Given the description of an element on the screen output the (x, y) to click on. 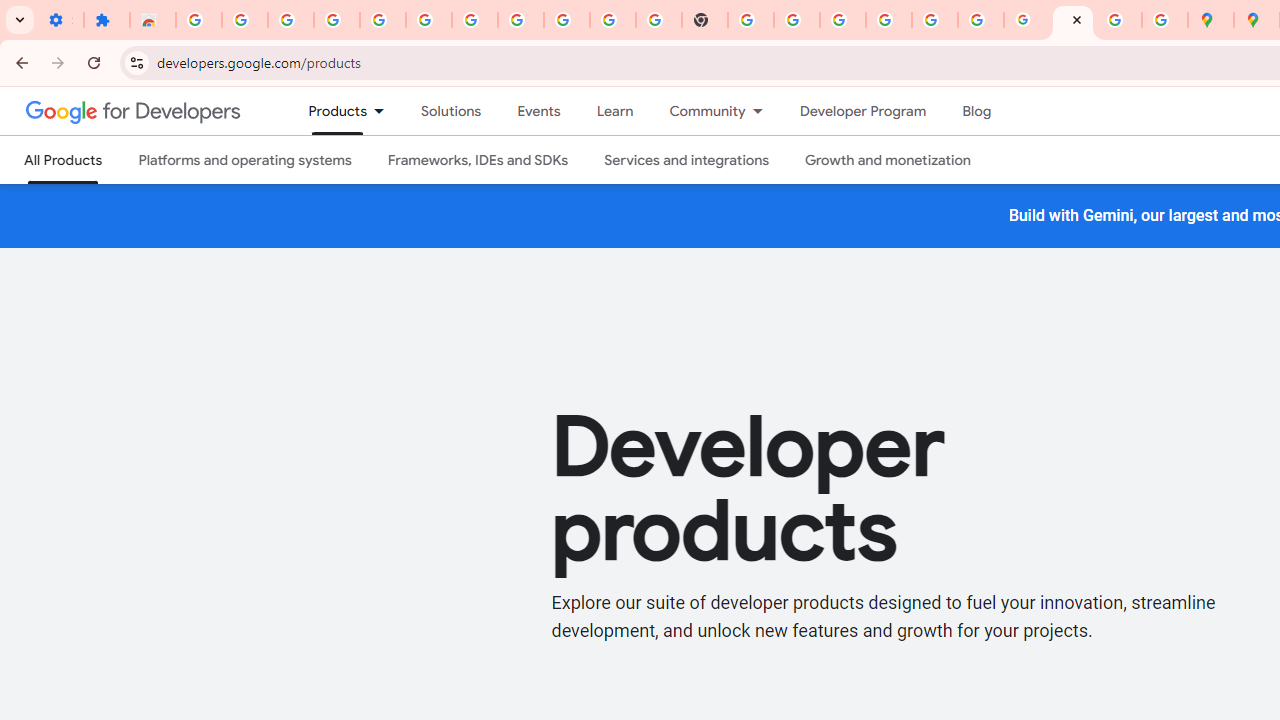
YouTube (613, 20)
Products, selected (329, 111)
Safety in Our Products - Google Safety Center (1164, 20)
New Tab (705, 20)
Google Account (567, 20)
Platforms and operating systems (244, 160)
Sign in - Google Accounts (889, 20)
Frameworks, IDEs and SDKs (477, 160)
Delete photos & videos - Computer - Google Photos Help (336, 20)
Settings - On startup (60, 20)
